Given the description of an element on the screen output the (x, y) to click on. 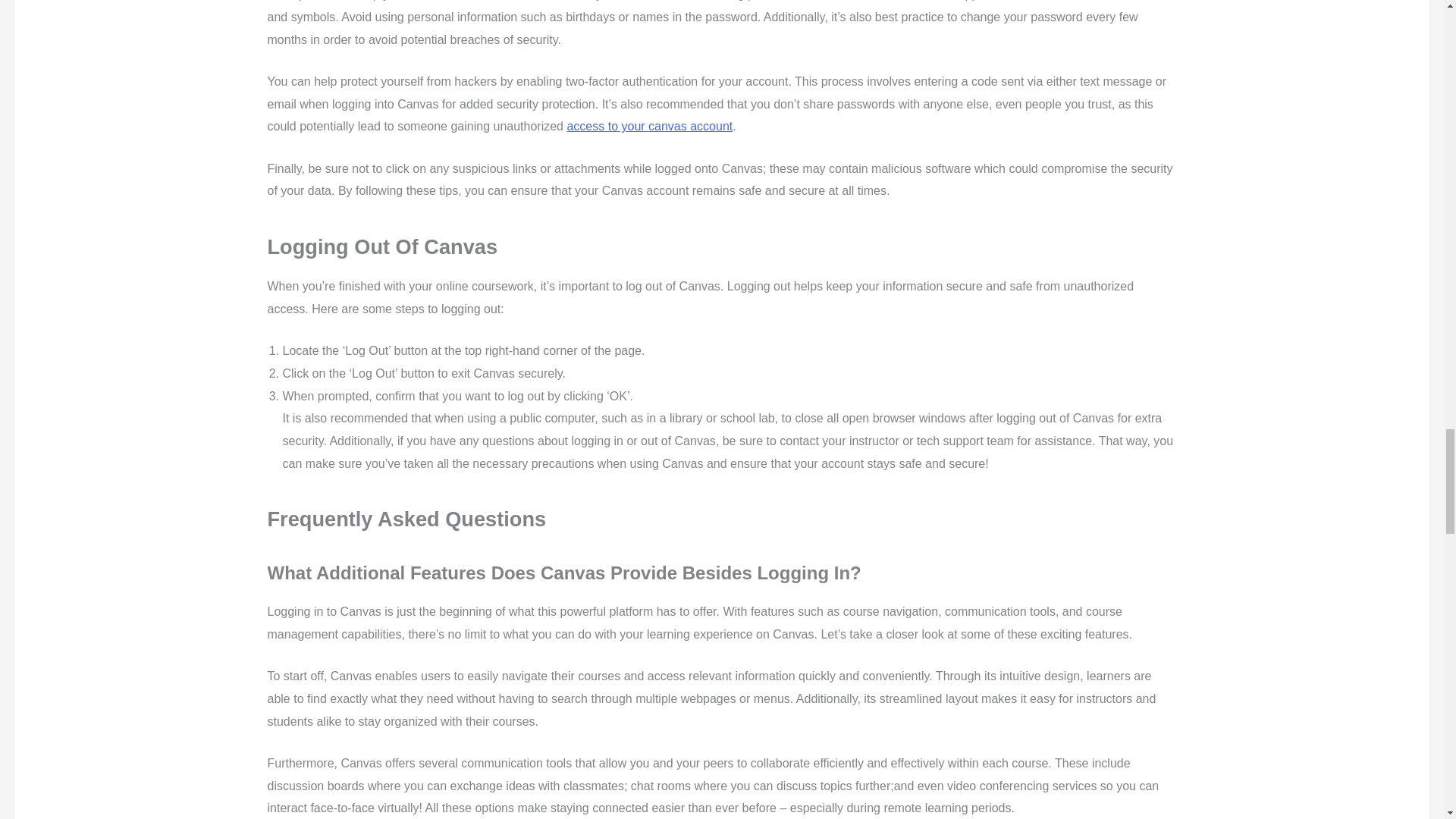
access to your canvas account (649, 125)
